Given the description of an element on the screen output the (x, y) to click on. 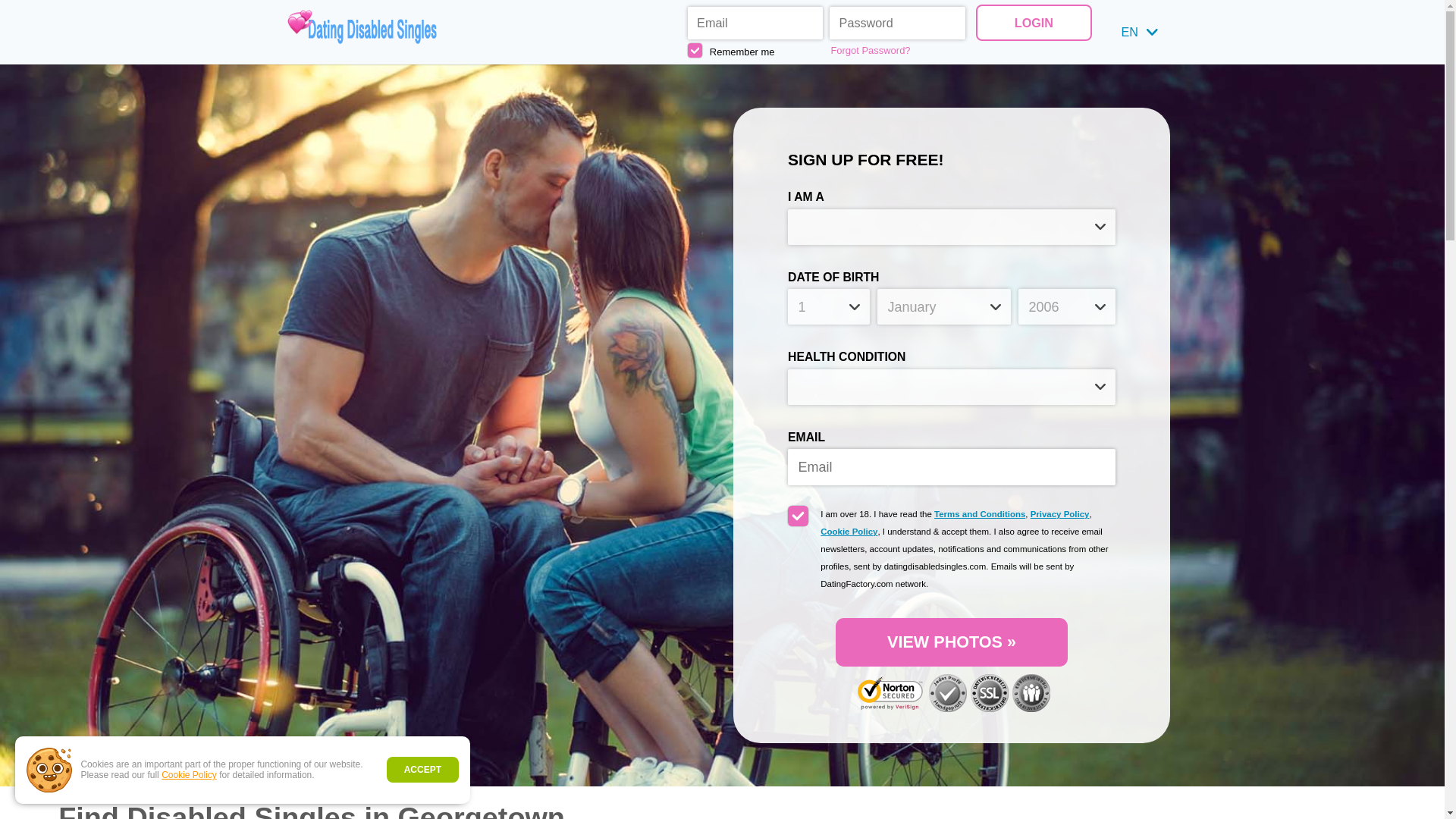
Cookie Policy (849, 531)
Privacy Policy (1059, 513)
LOGIN (1032, 22)
Cookie Policy (188, 774)
EN (1139, 32)
Terms and Conditions (979, 513)
Forgot Password? (897, 50)
